Given the description of an element on the screen output the (x, y) to click on. 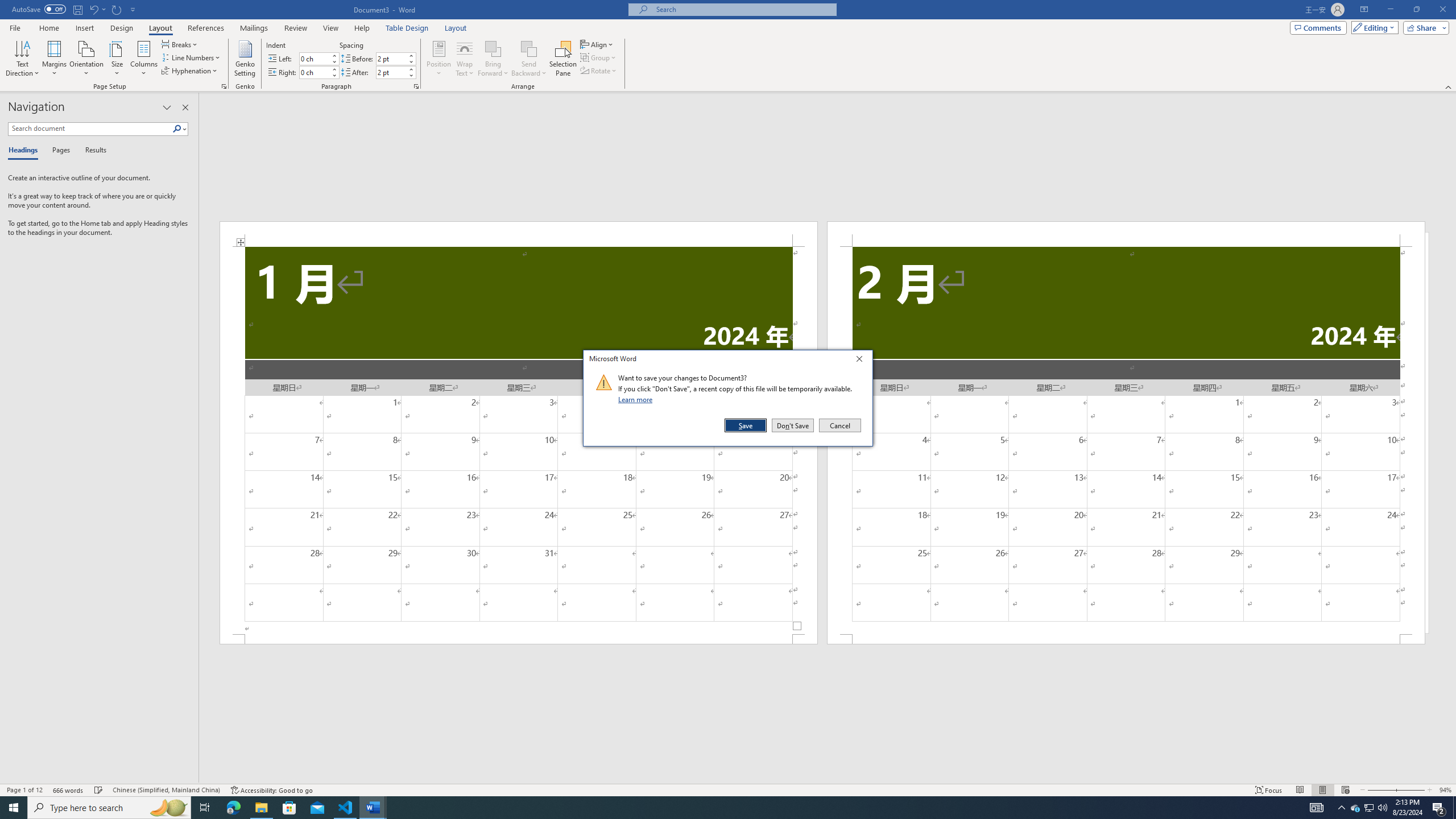
Page Number Page 1 of 12 (24, 790)
Cancel (839, 425)
Read Mode (1299, 790)
Less (411, 75)
More (411, 69)
Footer -Section 2- (1126, 638)
Breaks (179, 44)
Columns (143, 58)
Start (13, 807)
Class: MsoCommandBar (728, 789)
Task Pane Options (167, 107)
Microsoft search (742, 9)
Indent Right (314, 72)
